Given the description of an element on the screen output the (x, y) to click on. 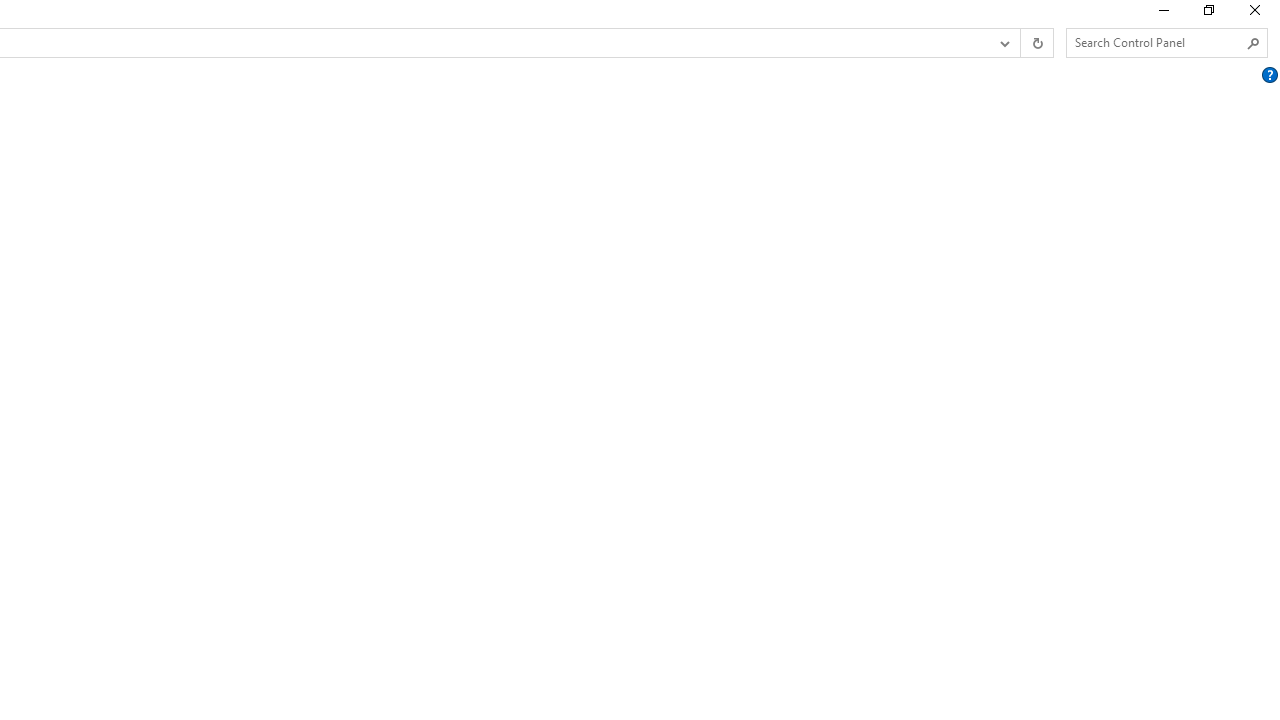
Restore (1208, 14)
Minimize (1162, 14)
Refresh "Storage Spaces" (F5) (1036, 43)
Search Box (1156, 42)
AutomationID: Help (1269, 75)
Previous Locations (1003, 43)
Search (1253, 43)
Address band toolbar (1019, 43)
